Given the description of an element on the screen output the (x, y) to click on. 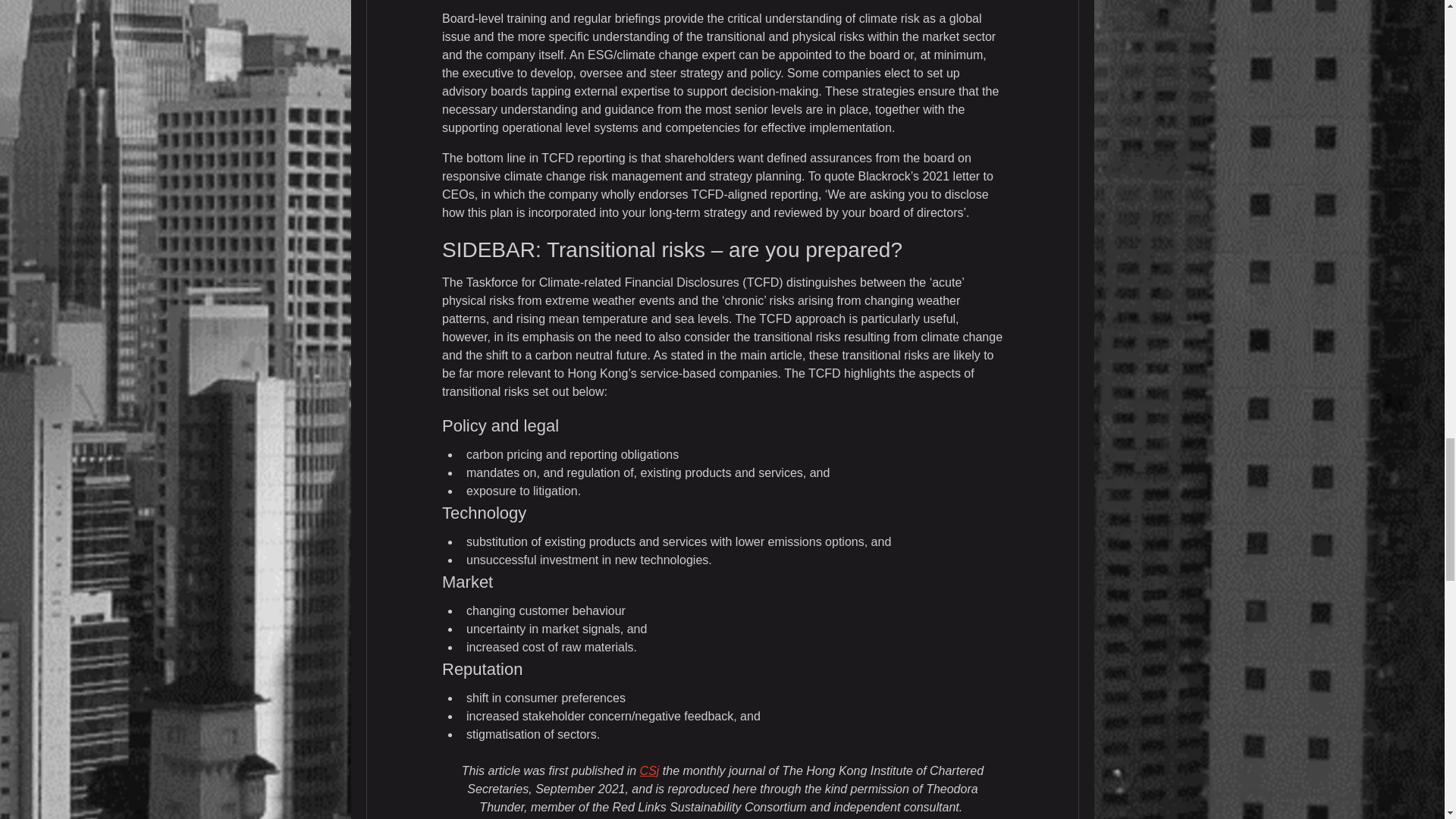
CSj (649, 770)
